Given the description of an element on the screen output the (x, y) to click on. 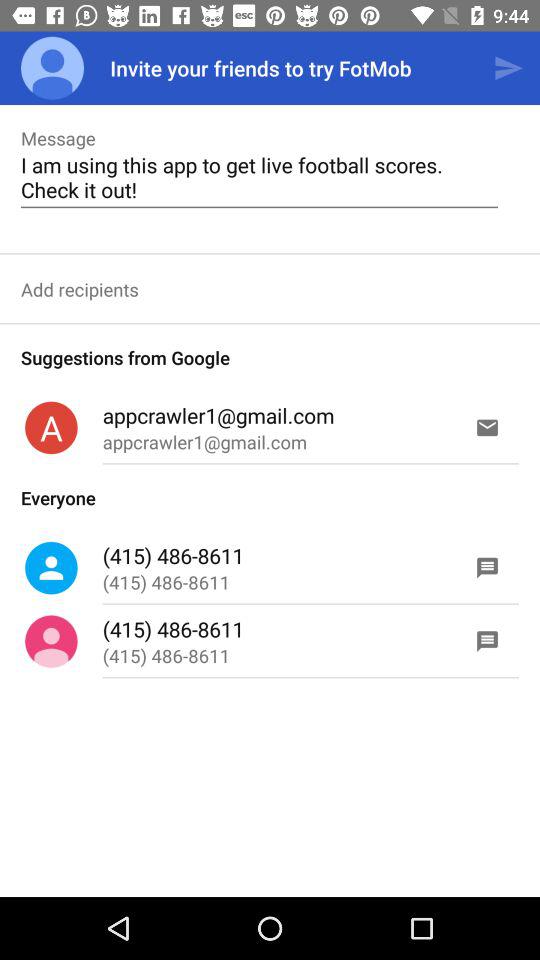
turn on app next to the invite your friends icon (508, 67)
